Given the description of an element on the screen output the (x, y) to click on. 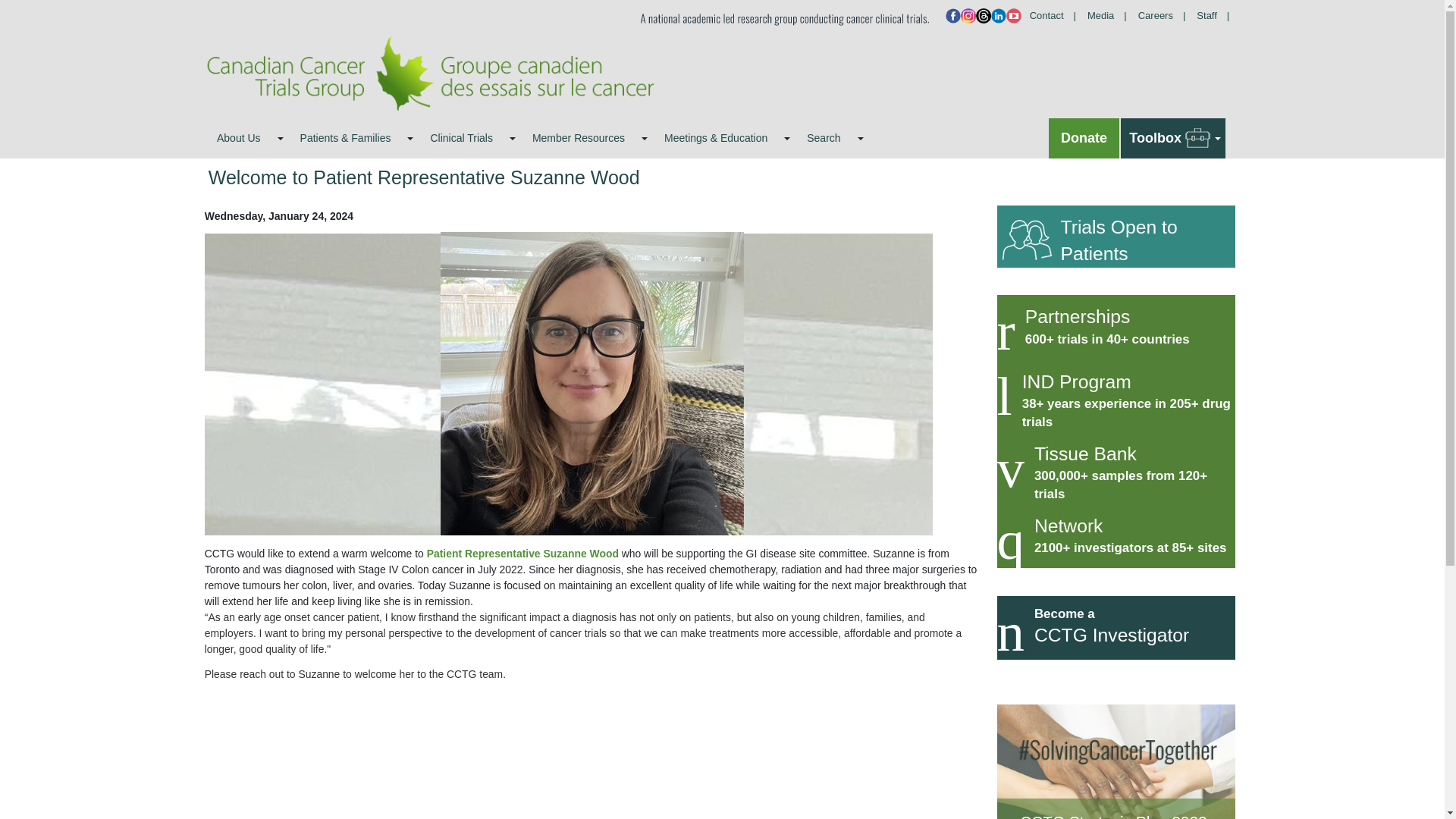
Media (1111, 15)
Contact (1057, 15)
Staff (1217, 15)
CCTG Strategic Plan 2022-2027 (1114, 761)
Careers (1166, 15)
